Given the description of an element on the screen output the (x, y) to click on. 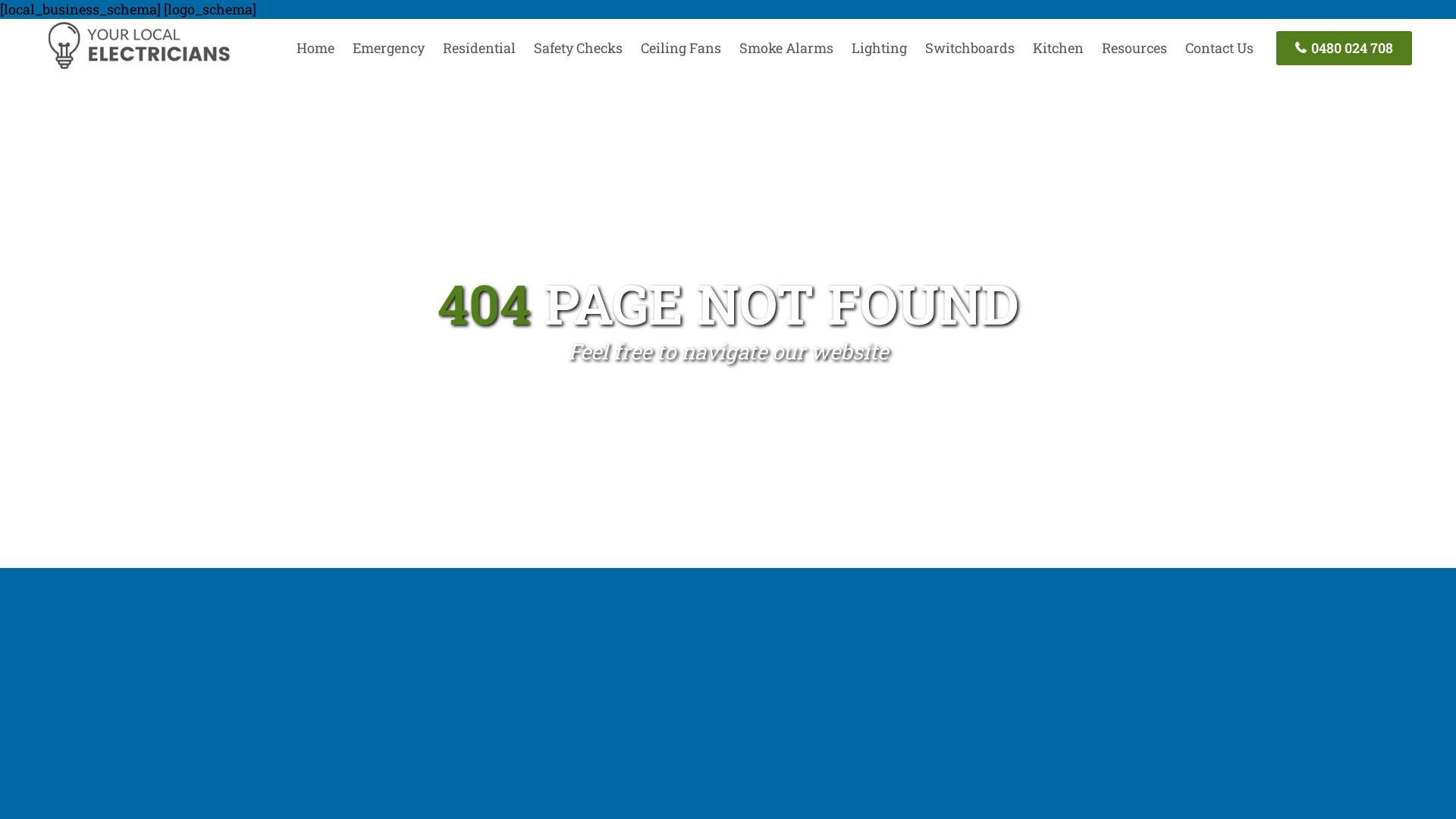
Resources Element type: text (1134, 47)
Contact Us Element type: text (1219, 47)
0480 024 708 Element type: text (1344, 48)
Residential Element type: text (479, 47)
Switchboards Element type: text (969, 47)
Home Element type: text (315, 47)
Lighting Element type: text (879, 47)
Safety Checks Element type: text (578, 47)
Smoke Alarms Element type: text (785, 47)
Kitchen Element type: text (1058, 47)
Electricians Element type: hover (137, 66)
Emergency Element type: text (388, 47)
Ceiling Fans Element type: text (680, 47)
